Given the description of an element on the screen output the (x, y) to click on. 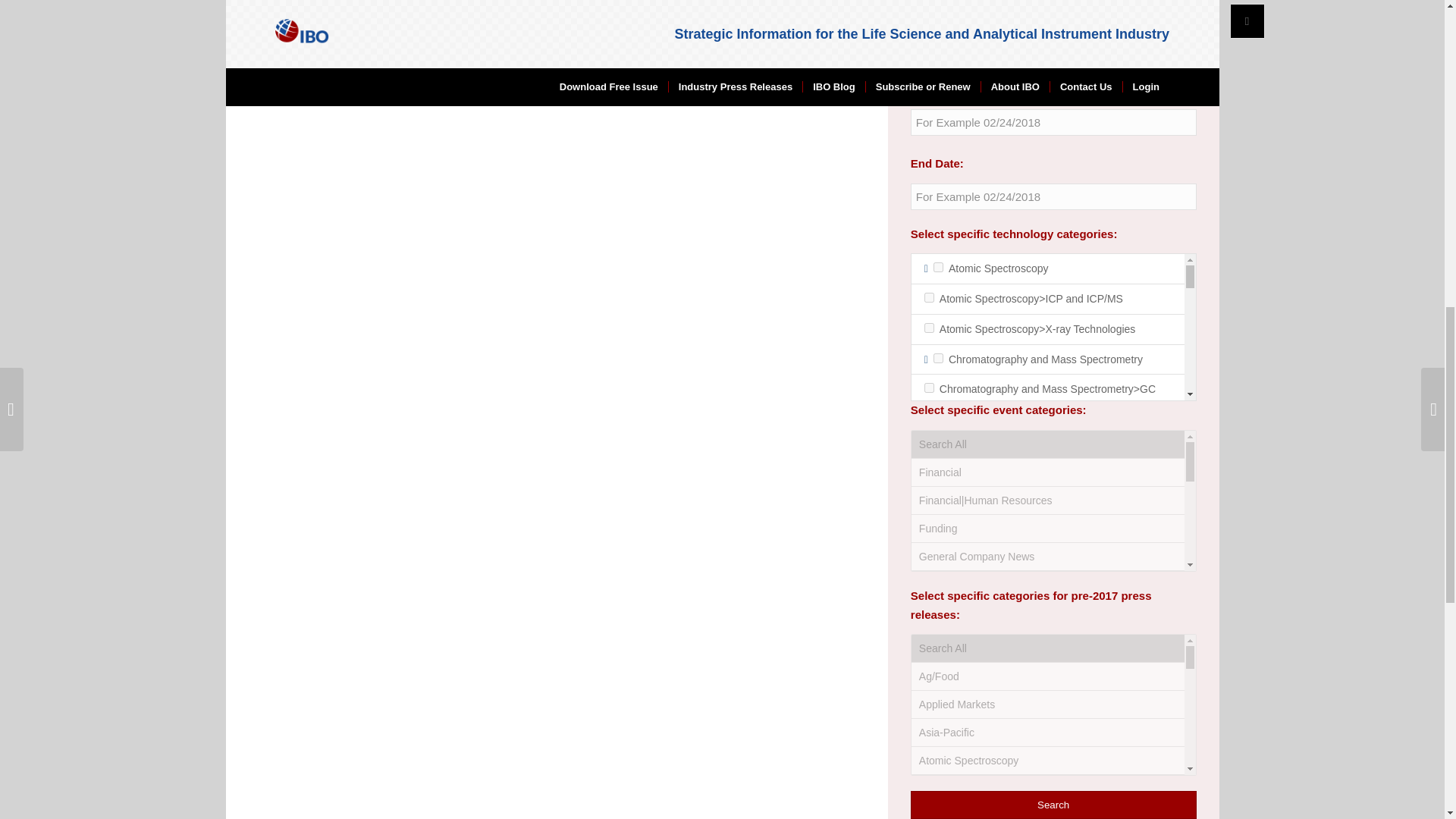
atomic-spectroscopy (938, 266)
chromatography-and-mass-spectrometry (938, 357)
chromatography-and-mass-spectrometryroutine-ms (929, 594)
chromatography-and-mass-spectrometrygc (929, 388)
chromatography-and-mass-spectrometrylc (929, 515)
